Given the description of an element on the screen output the (x, y) to click on. 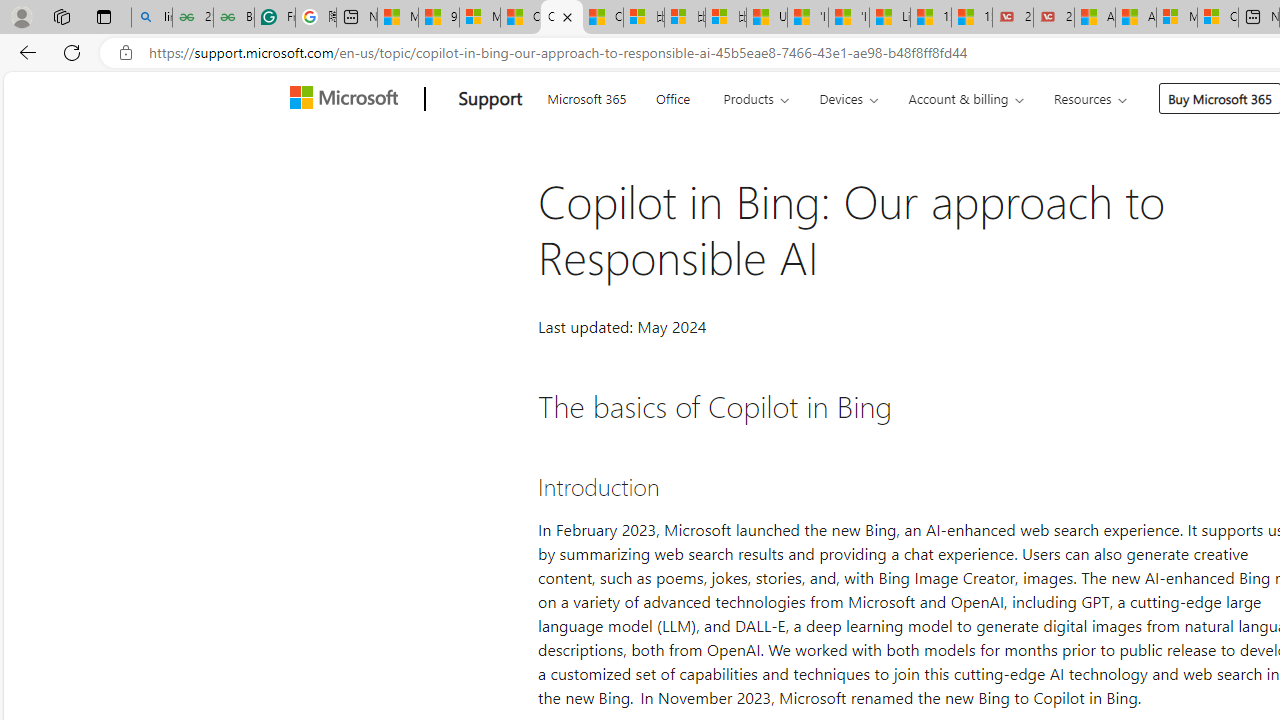
Office (672, 96)
Best SSL Certificates Provider in India - GeeksforGeeks (233, 17)
